Given the description of an element on the screen output the (x, y) to click on. 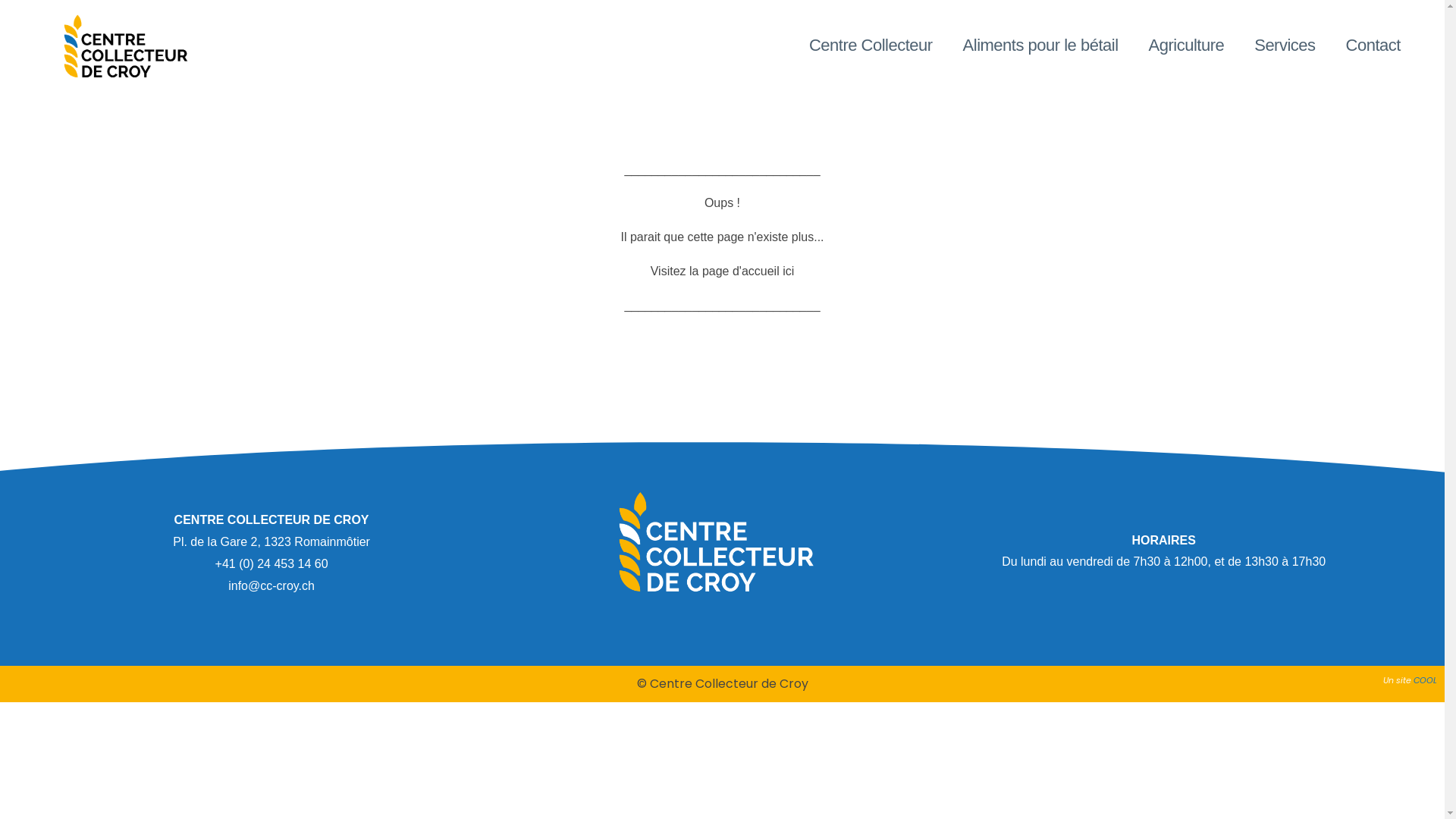
Centre Collecteur Element type: text (870, 45)
COOL Element type: text (1425, 680)
Services Element type: text (1284, 45)
Visitez la page d'accueil ici Element type: text (722, 270)
Contact Element type: text (1372, 45)
Agriculture Element type: text (1186, 45)
